Given the description of an element on the screen output the (x, y) to click on. 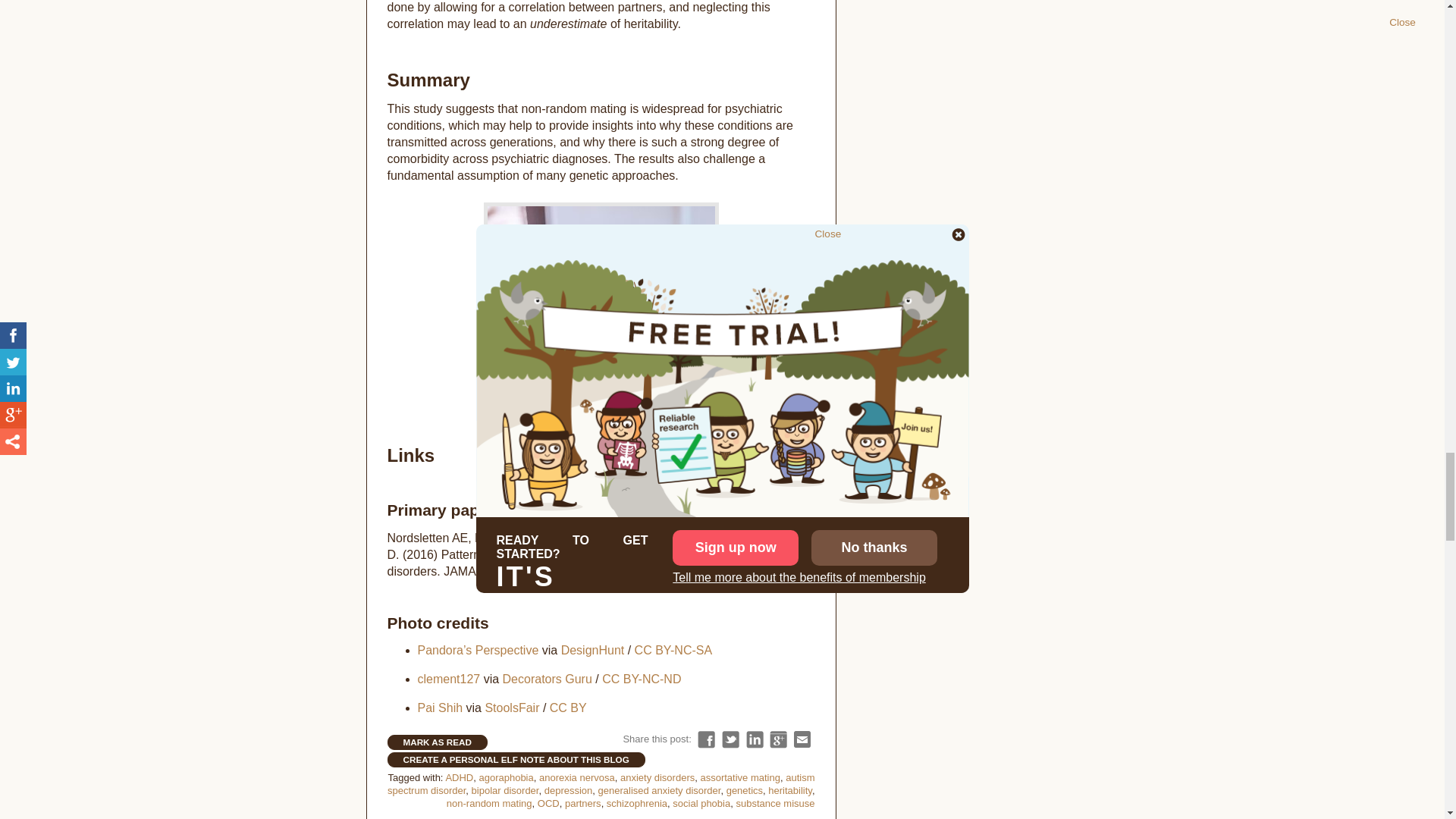
Share via email (801, 739)
Share on LinkedIn (753, 739)
Share on Facebook (705, 739)
Tweet this on Twitter (730, 739)
